Given the description of an element on the screen output the (x, y) to click on. 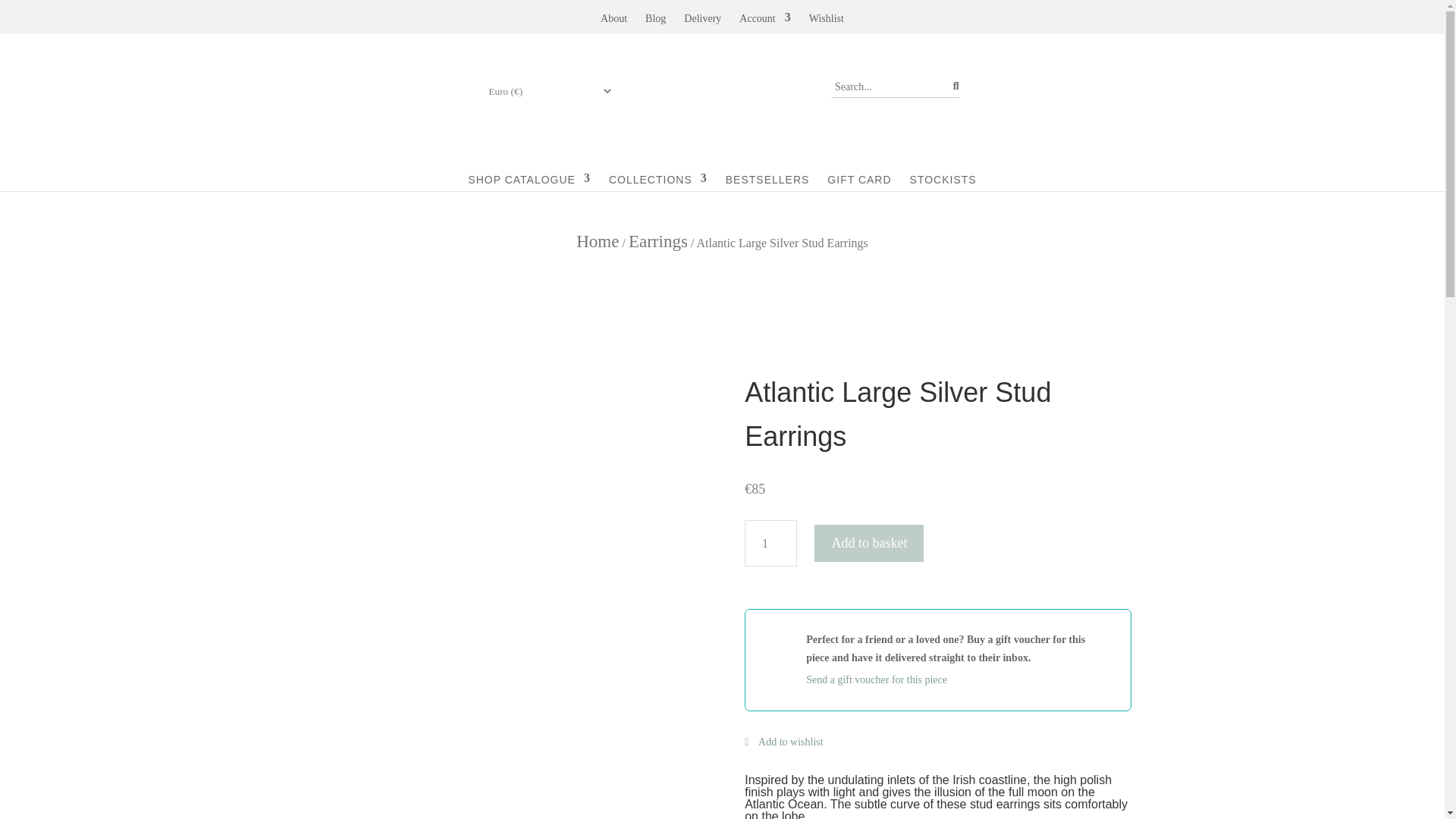
STOCKISTS (943, 171)
GIFT CARD (859, 171)
Add to basket (868, 542)
Delivery (702, 21)
Add to wishlist (783, 741)
SHOP CATALOGUE (529, 171)
Maureen Lynch Logo 500px (720, 90)
Wishlist (826, 21)
Send a gift voucher for this piece (957, 679)
Earrings (657, 240)
